Given the description of an element on the screen output the (x, y) to click on. 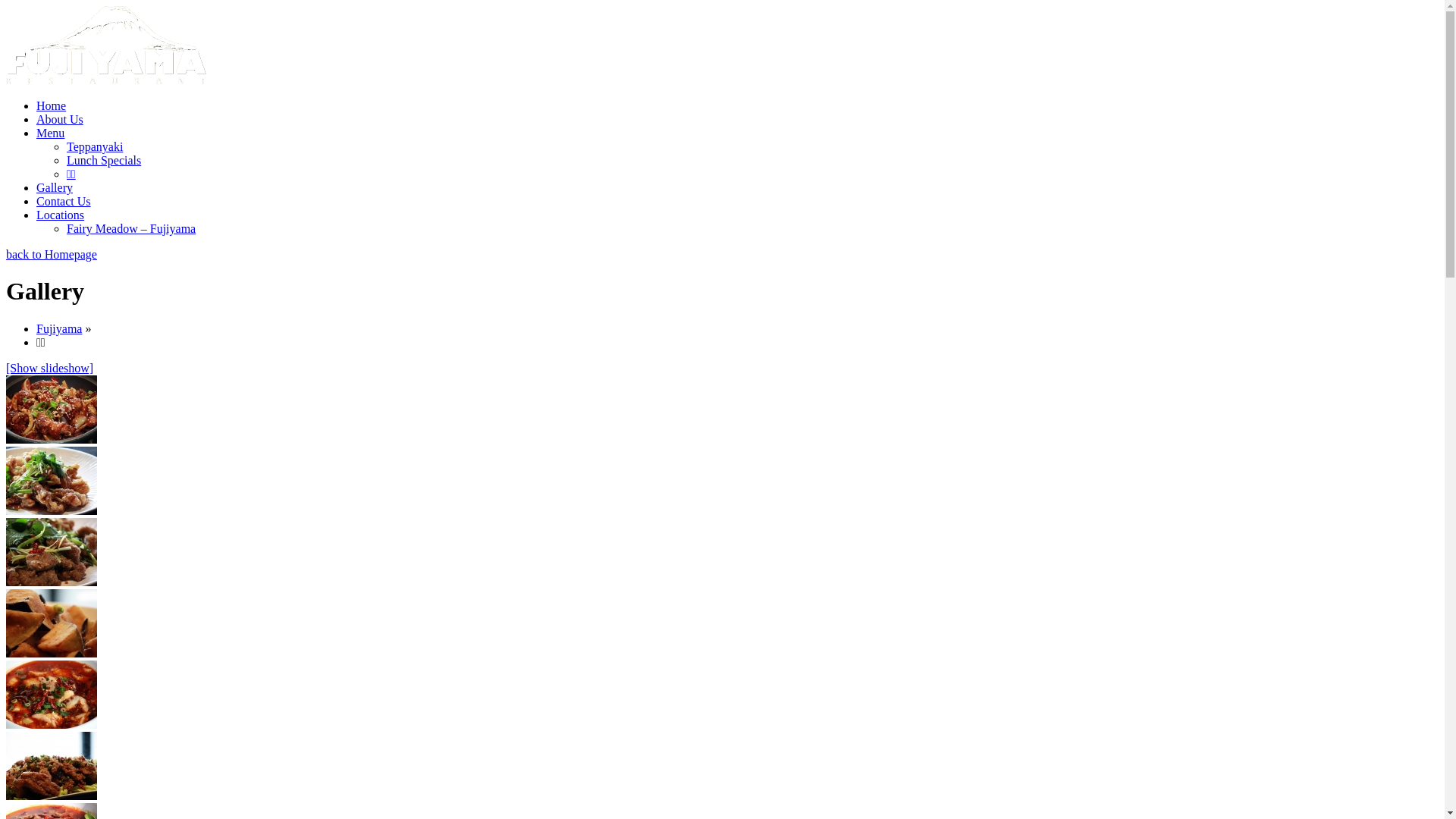
Lunch Specials Element type: text (103, 159)
Locations Element type: text (60, 214)
Gallery Element type: text (54, 187)
Contact Us Element type: text (63, 200)
back to Homepage Element type: text (51, 253)
Fujiyama Element type: text (58, 328)
Deep-Fried-Chicken-Wings-with-Onion Element type: hover (51, 409)
Fish-Hot-Pot-with-Pickles Element type: hover (51, 694)
Home Element type: text (50, 105)
Deep-Fried-Spicy-Beef Element type: hover (51, 551)
About Us Element type: text (59, 118)
Eggplant-with-Spicy-Salt Element type: hover (51, 623)
[Show slideshow] Element type: text (49, 367)
Garlic-Pork-Ribs Element type: hover (51, 765)
Teppanyaki Element type: text (94, 146)
Deep-Fried-Pork-with-Dark-Vinegar-Sauce Element type: hover (51, 480)
Menu Element type: text (50, 132)
